Given the description of an element on the screen output the (x, y) to click on. 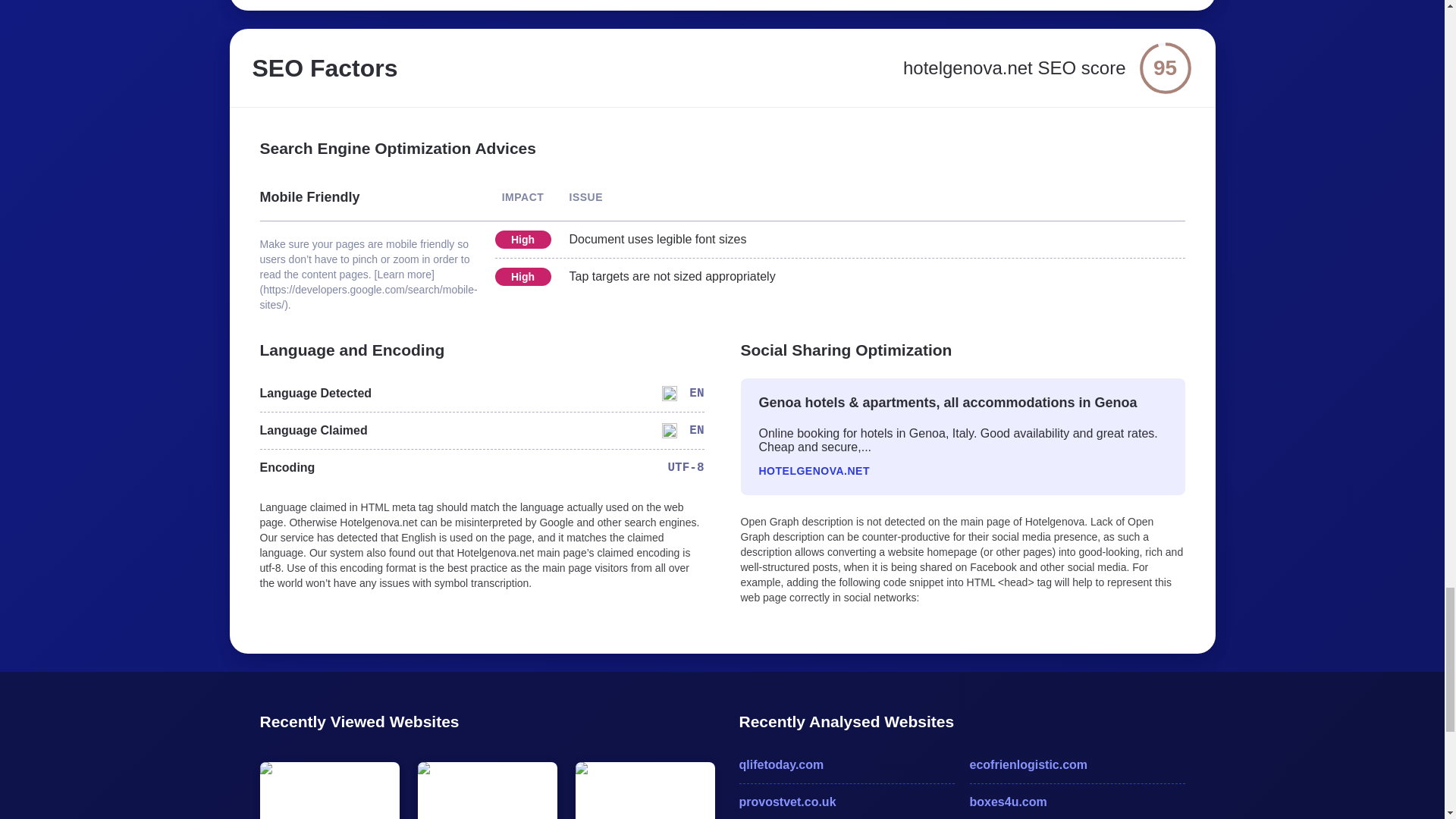
qlifetoday.com (845, 764)
ecofrienlogistic.com (1077, 764)
provostvet.co.uk (845, 802)
boxes4u.com (1077, 802)
